Given the description of an element on the screen output the (x, y) to click on. 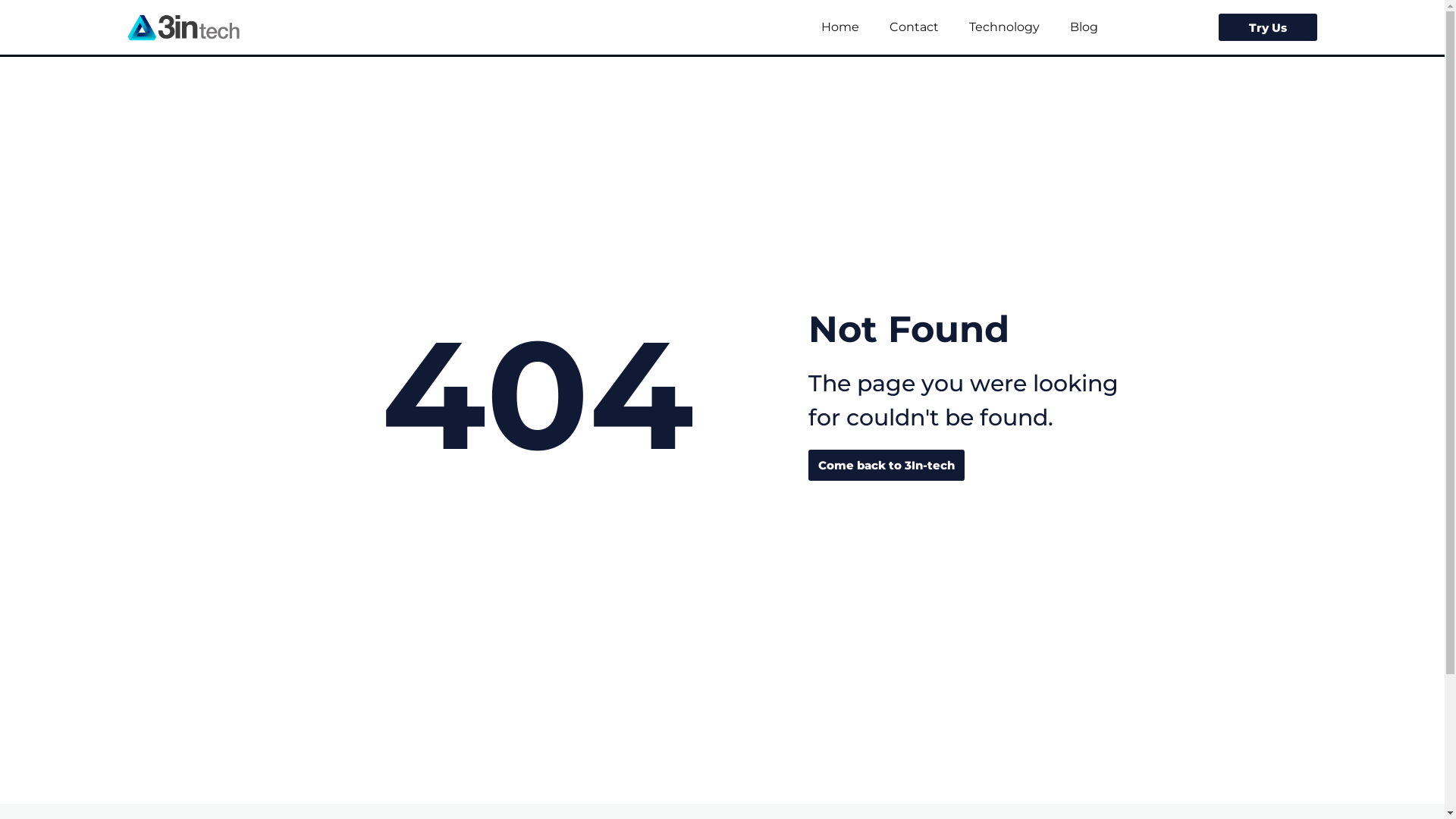
Technology Element type: text (1003, 27)
Contact Element type: text (913, 27)
Blog Element type: text (1083, 27)
Try Us Element type: text (1267, 26)
Come back to 3In-tech Element type: text (886, 464)
Home Element type: text (840, 27)
